Given the description of an element on the screen output the (x, y) to click on. 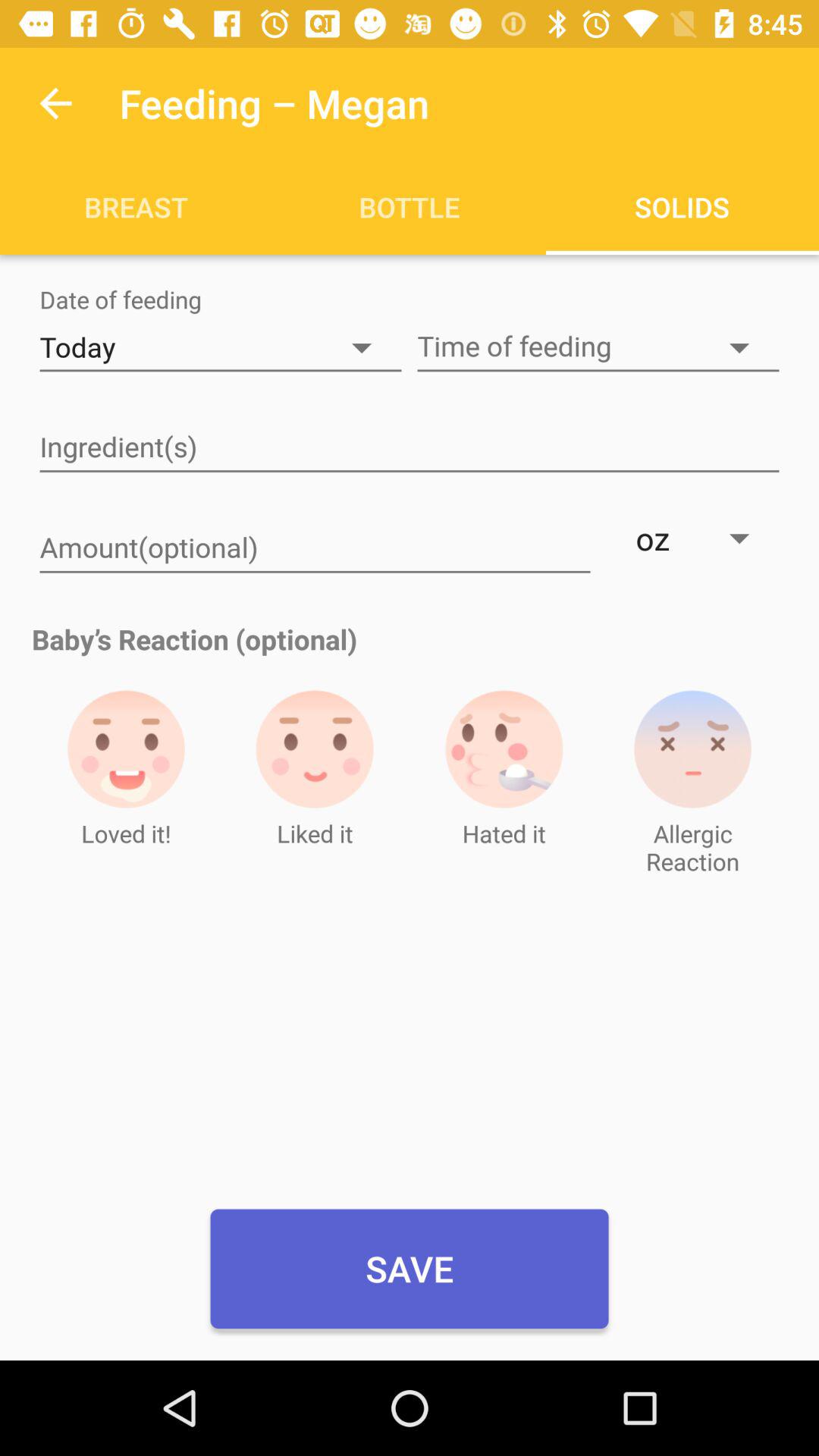
go to time of feeding button (598, 347)
